Given the description of an element on the screen output the (x, y) to click on. 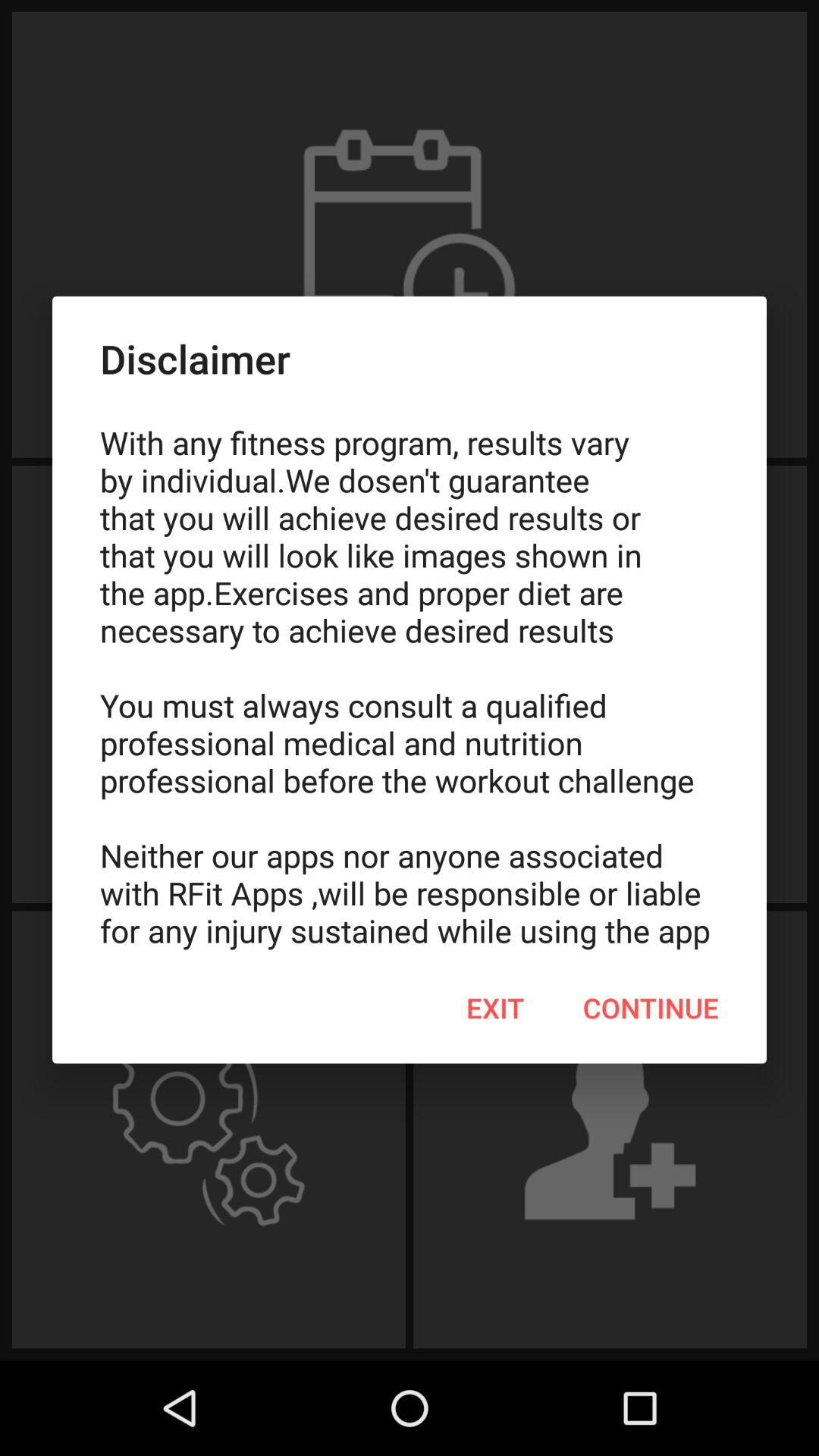
turn on item next to continue icon (495, 1007)
